Given the description of an element on the screen output the (x, y) to click on. 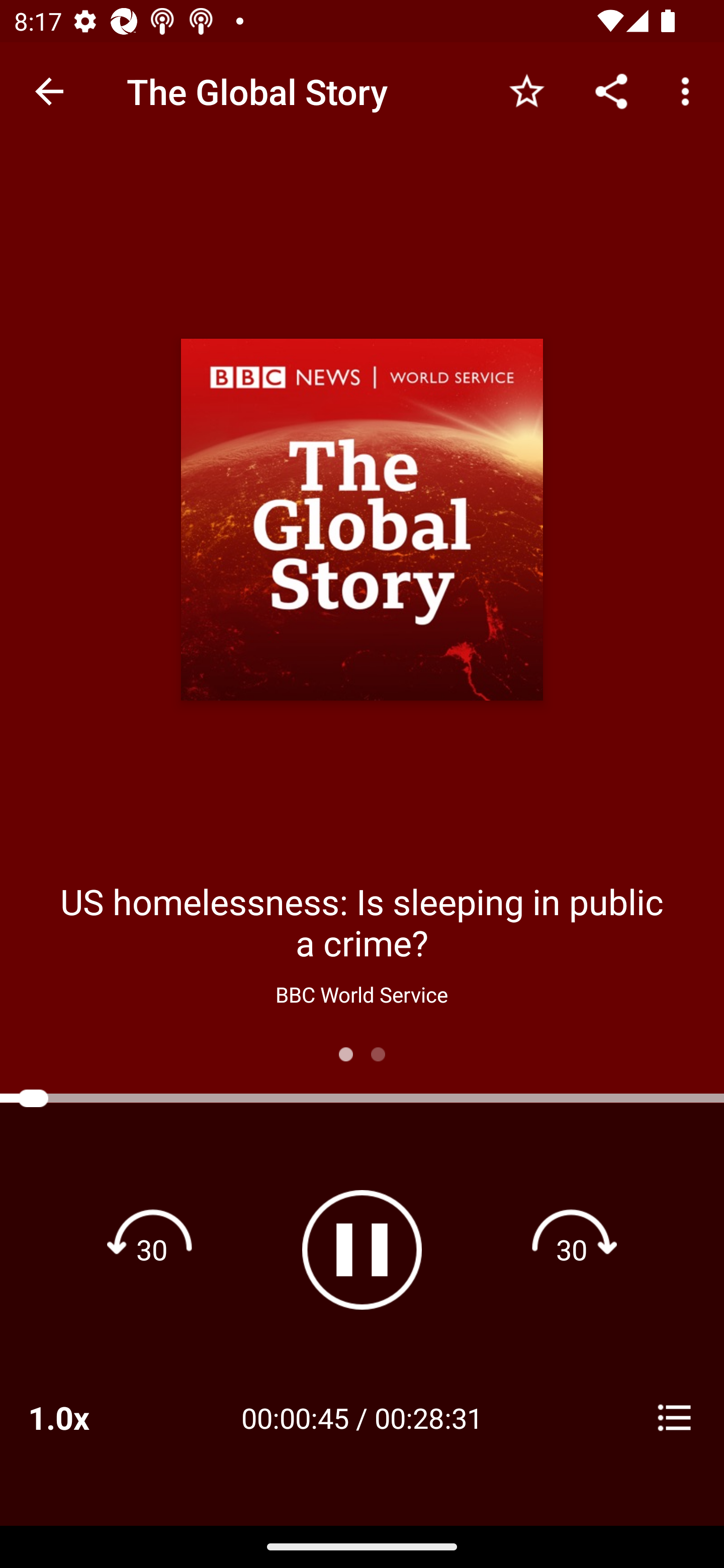
Navigate up (49, 91)
Add to Favorites (526, 90)
Share... (611, 90)
More options (688, 90)
BBC World Service (361, 994)
Pause (361, 1249)
Rewind (151, 1249)
Fast forward (571, 1249)
1.0x Playback Speeds (84, 1417)
00:28:31 (428, 1417)
